Given the description of an element on the screen output the (x, y) to click on. 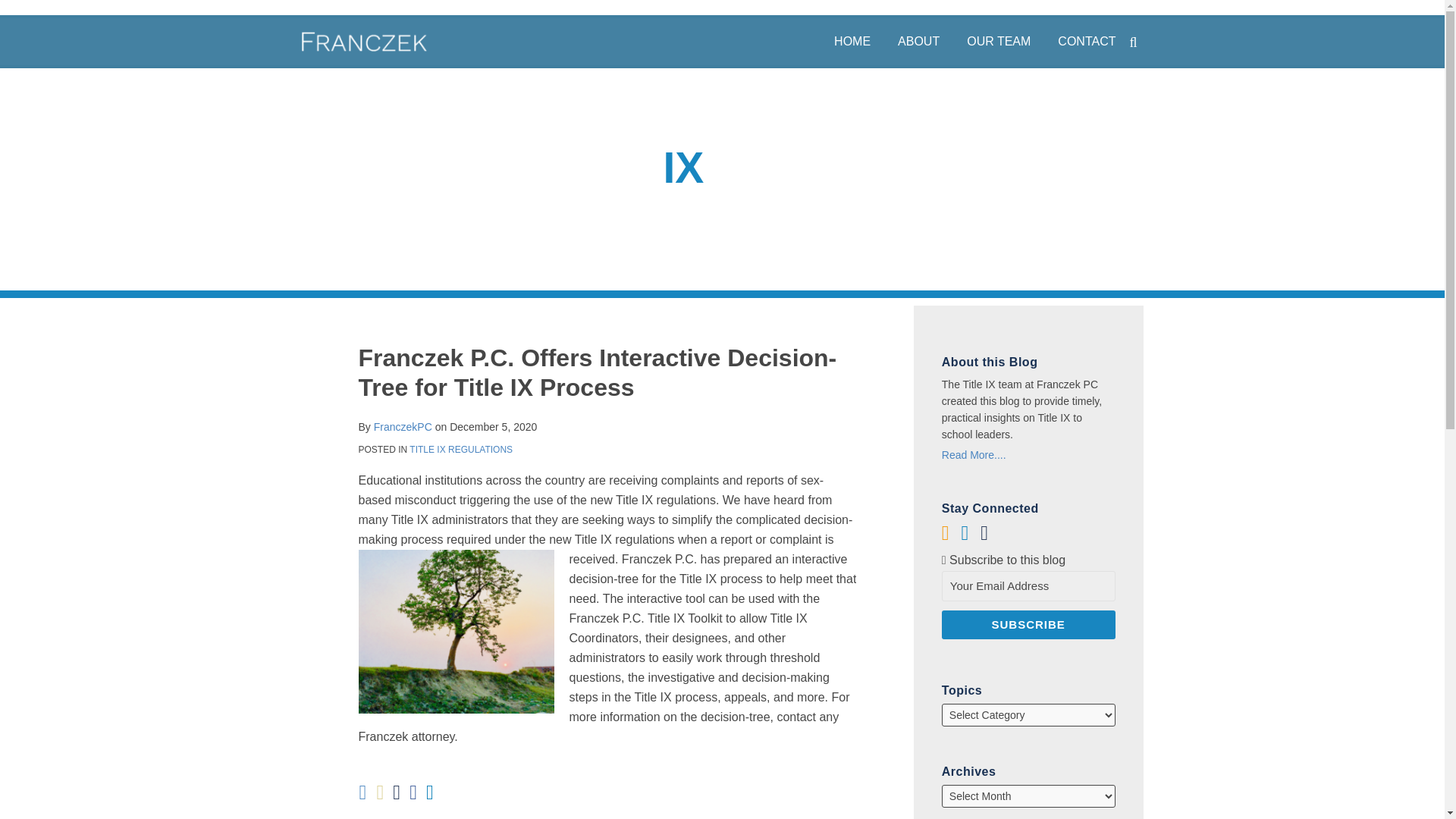
TITLE IX REGULATIONS (460, 449)
Read More.... (1028, 454)
ABOUT (918, 41)
FranczekPC (403, 426)
Subscribe (1028, 624)
HOME (852, 41)
OUR TEAM (998, 41)
CONTACT (1086, 41)
Title IX Insights (721, 167)
Subscribe (1028, 624)
